Given the description of an element on the screen output the (x, y) to click on. 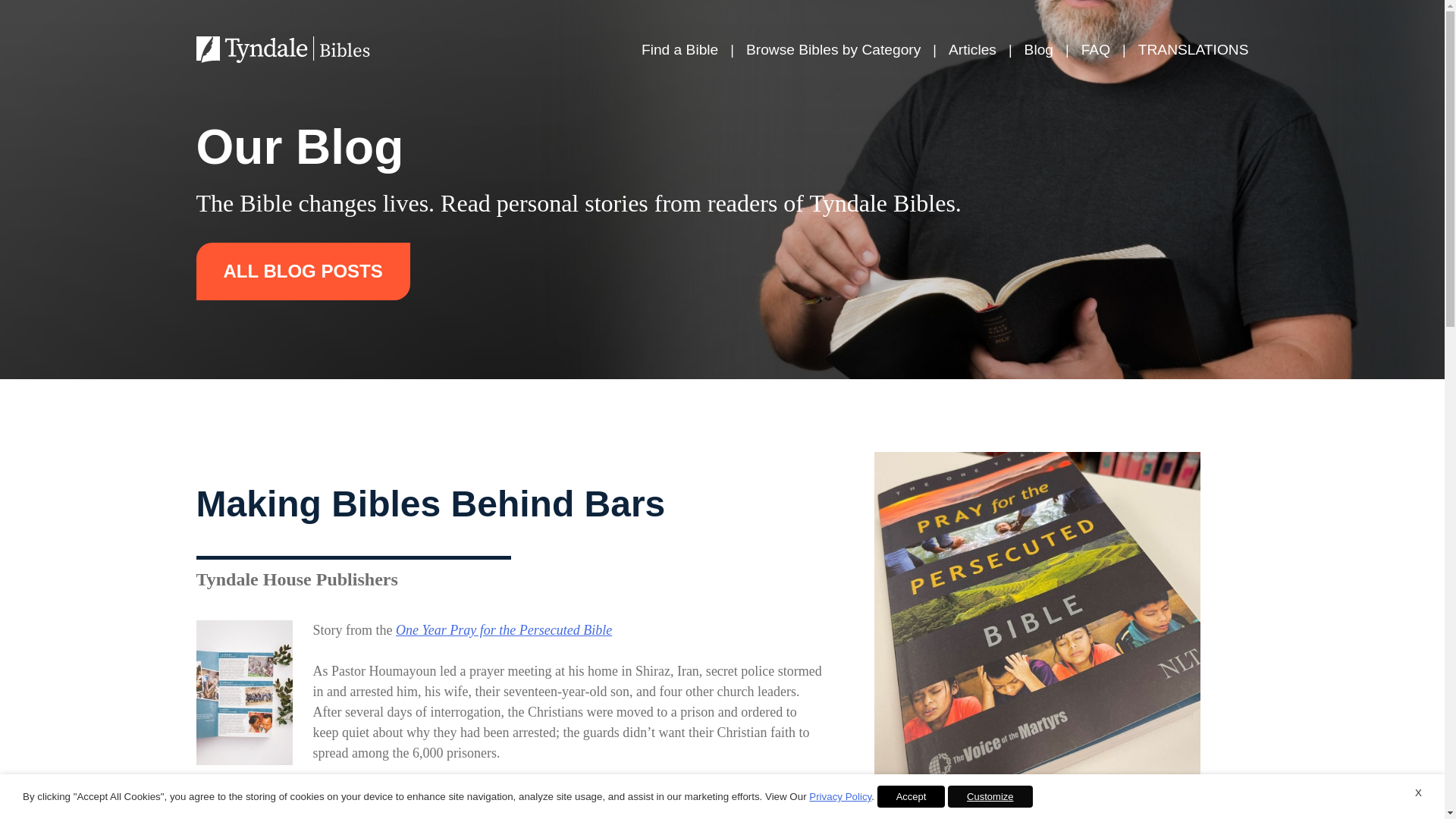
One Year Pray for the Persecuted Bible (503, 630)
ALL BLOG POSTS (302, 271)
Find a Bible (679, 50)
Articles (972, 50)
Blog (1038, 50)
Privacy Policy (839, 796)
Close and Accept (1418, 792)
X (1418, 792)
TRANSLATIONS (1193, 50)
FAQ (1095, 50)
Browse Bibles by Category (832, 50)
